Given the description of an element on the screen output the (x, y) to click on. 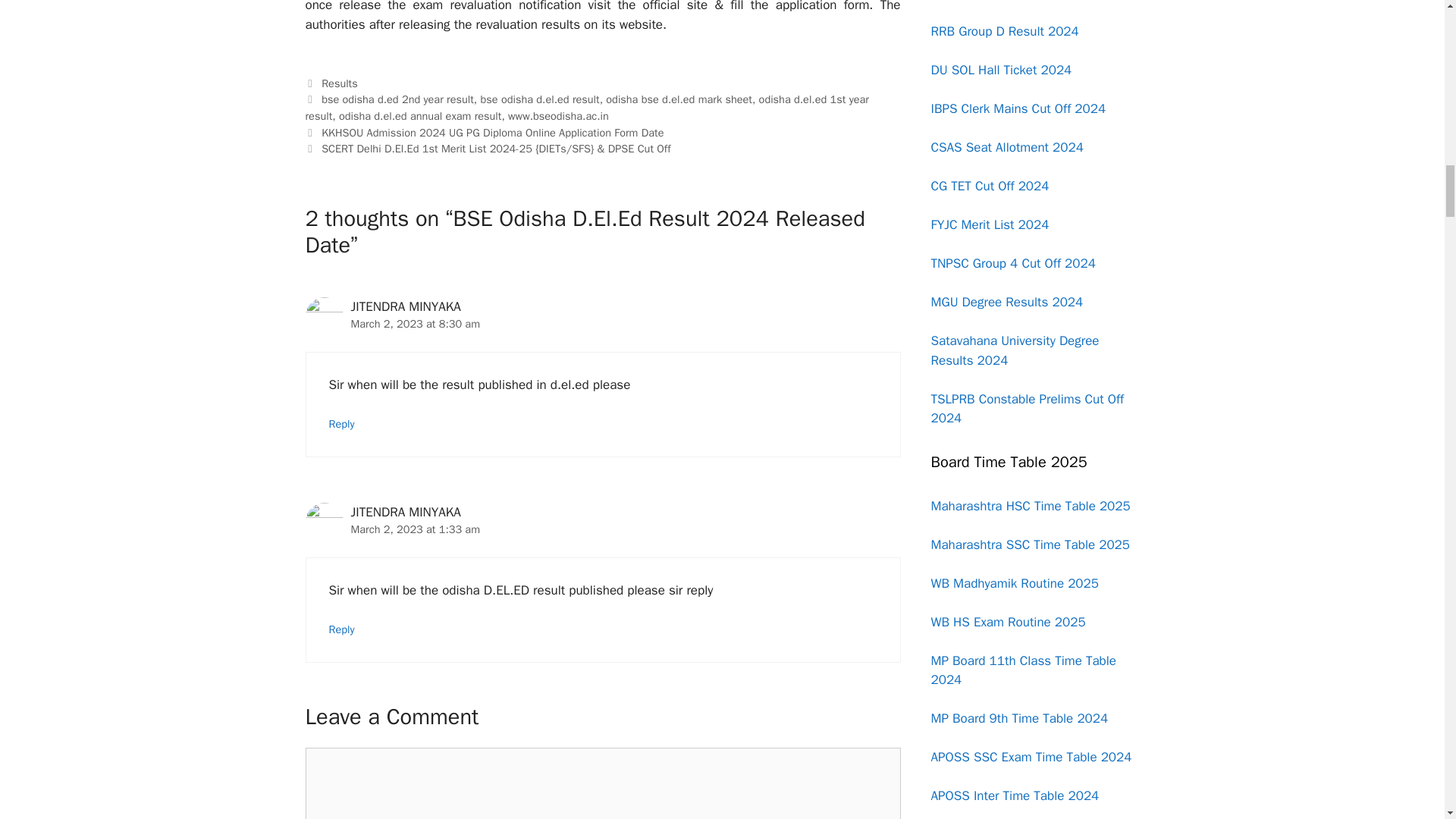
Reply (342, 423)
odisha d.el.ed annual exam result (420, 115)
March 2, 2023 at 1:33 am (415, 529)
bse odisha d.el.ed result (539, 99)
bse odisha d.ed 2nd year result (397, 99)
odisha d.el.ed 1st year result (585, 107)
Results (339, 83)
Reply (342, 629)
www.bseodisha.ac.in (558, 115)
odisha bse d.el.ed mark sheet (678, 99)
March 2, 2023 at 8:30 am (415, 323)
